Given the description of an element on the screen output the (x, y) to click on. 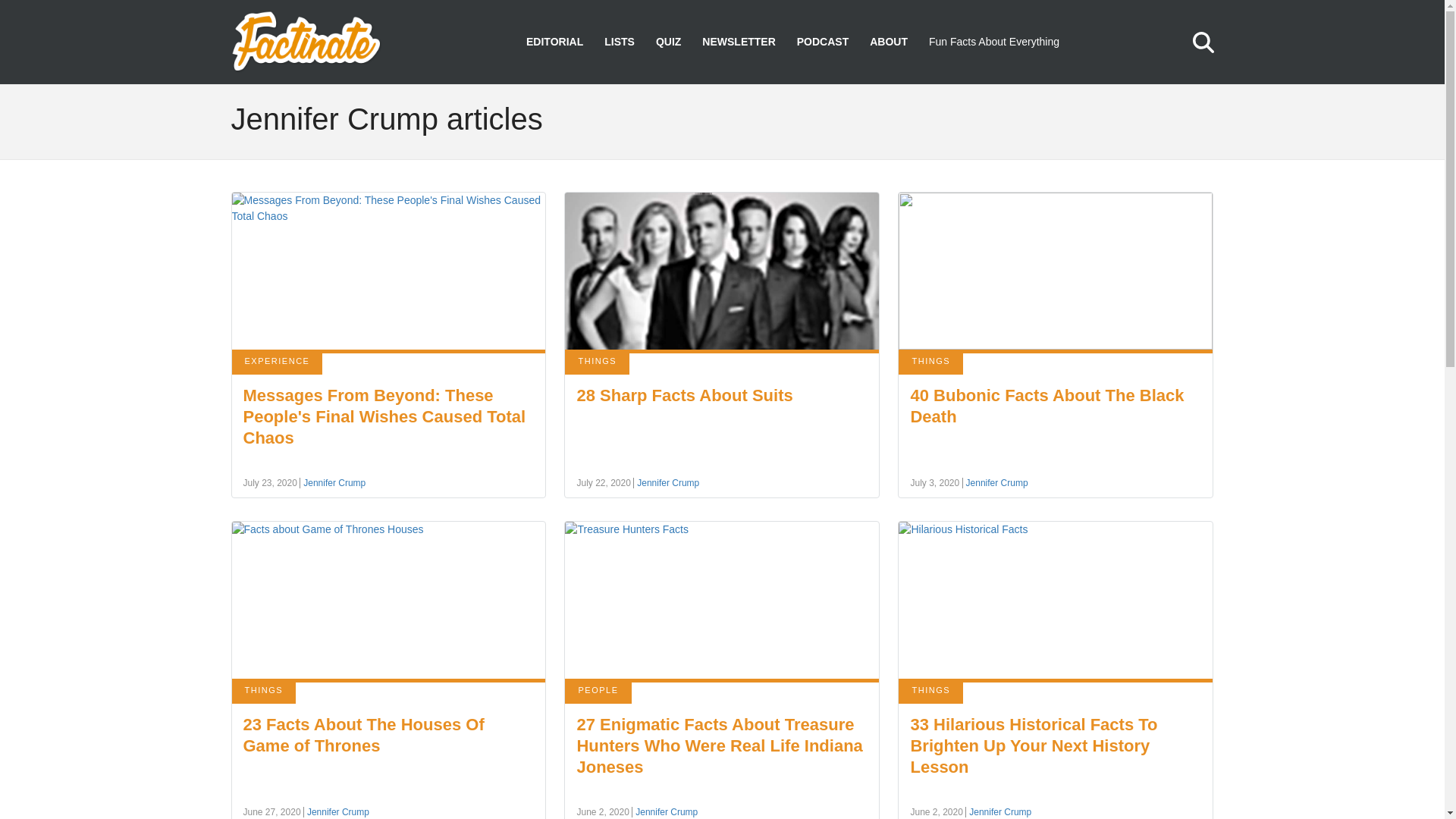
NEWSLETTER (737, 41)
Jennifer Crump (332, 482)
EXPERIENCE (277, 361)
LISTS (619, 41)
EDITORIAL (554, 41)
ABOUT (888, 41)
QUIZ (668, 41)
PODCAST (822, 41)
